Given the description of an element on the screen output the (x, y) to click on. 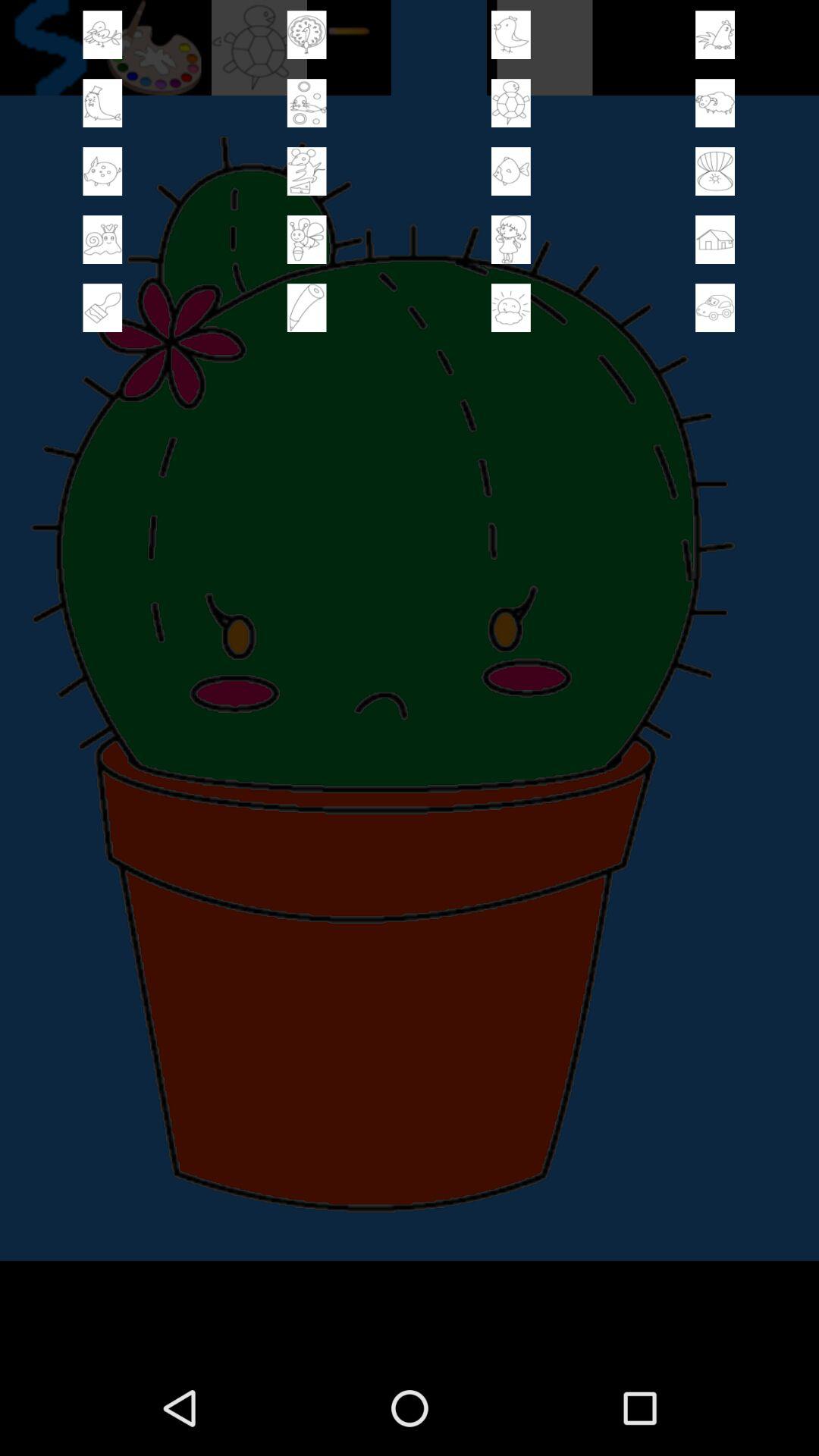
select card (306, 307)
